Given the description of an element on the screen output the (x, y) to click on. 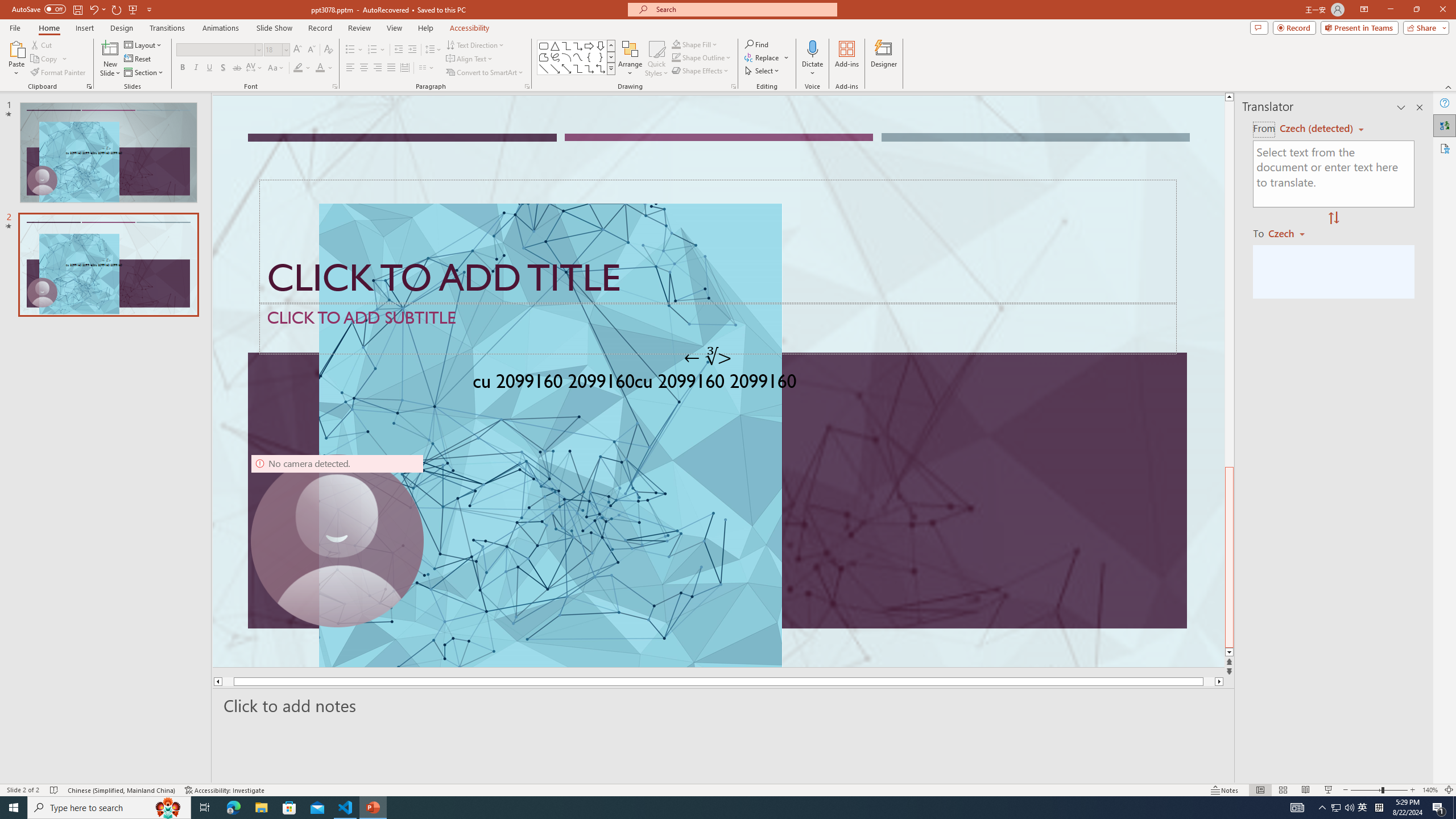
Camera 9, No camera detected. (336, 540)
TextBox 61 (717, 383)
